Given the description of an element on the screen output the (x, y) to click on. 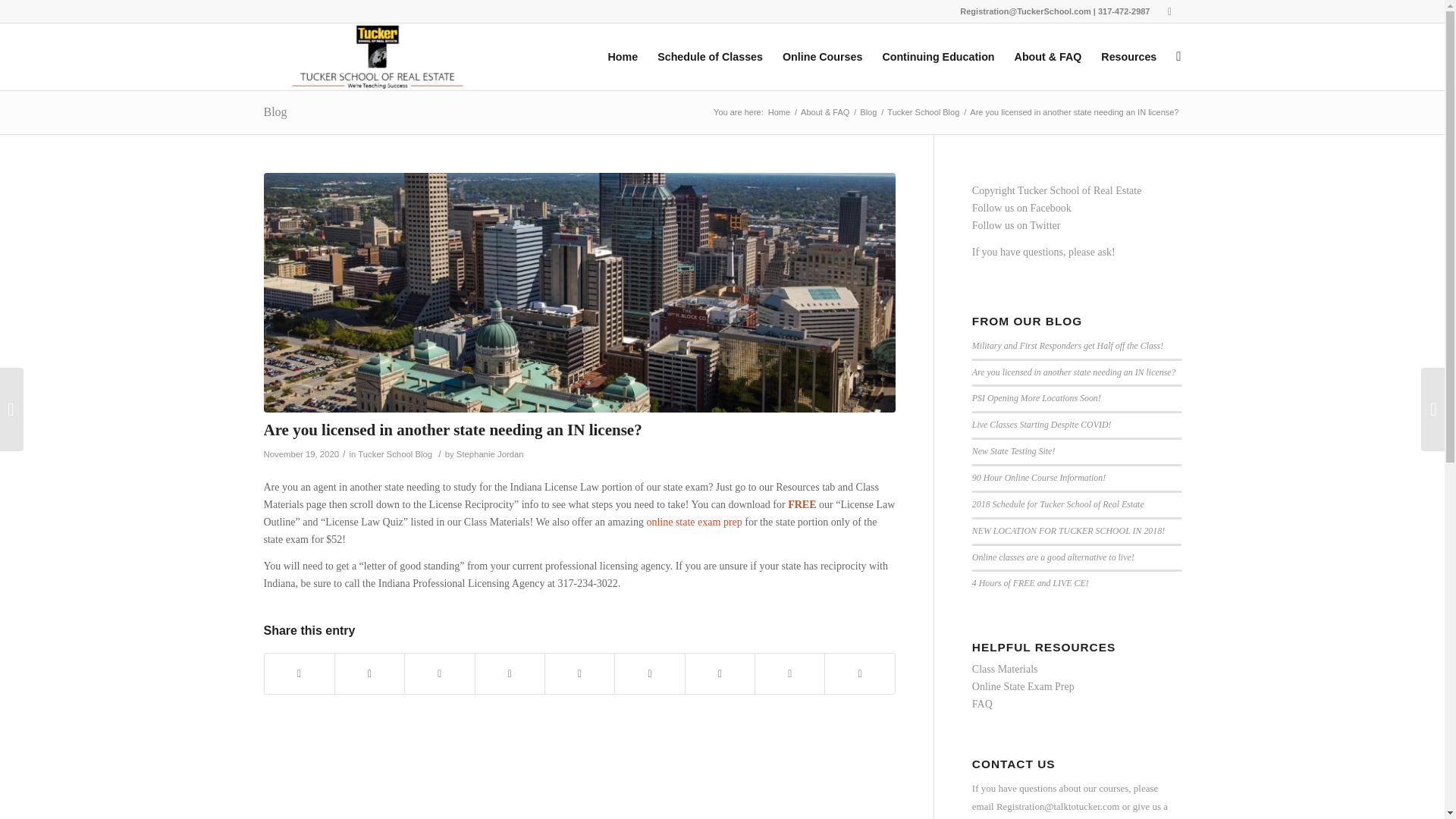
Continuing Education (938, 56)
Home (778, 112)
Blog (868, 112)
Facebook (1169, 11)
Schedule of Classes (710, 56)
Online Courses (822, 56)
Permanent Link: Blog (274, 111)
Resources (1128, 56)
Tucker School of Real Estate (778, 112)
Blog (274, 111)
Blog (868, 112)
Posts by Stephanie Jordan (490, 453)
